Given the description of an element on the screen output the (x, y) to click on. 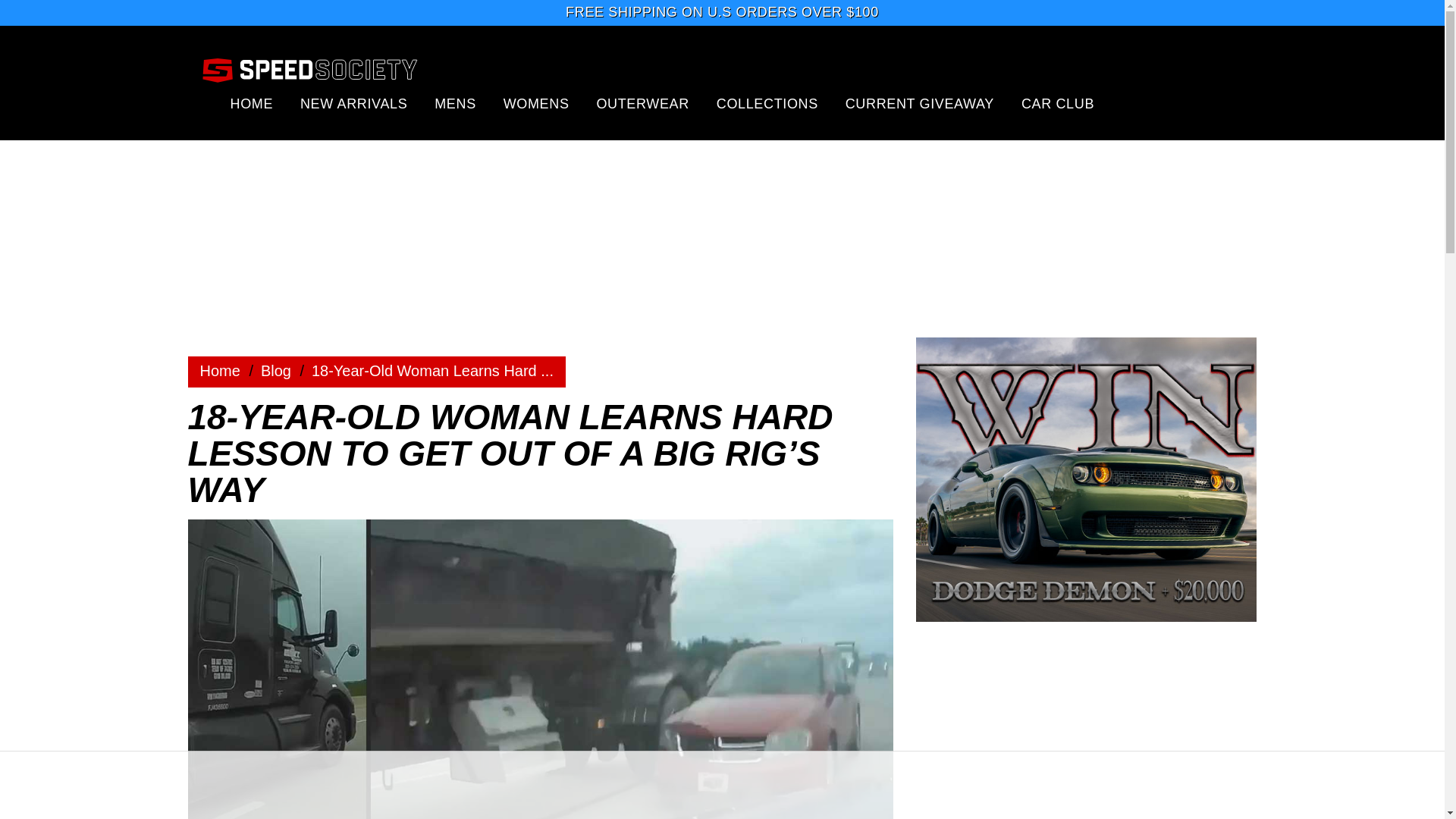
Home (220, 370)
Home (275, 370)
WOMENS (536, 103)
speed society logo (308, 69)
NEW ARRIVALS (353, 103)
18-Year-Old Woman Learns Hard ... (432, 370)
Home (220, 370)
CAR CLUB (1058, 103)
MENS (454, 103)
